Given the description of an element on the screen output the (x, y) to click on. 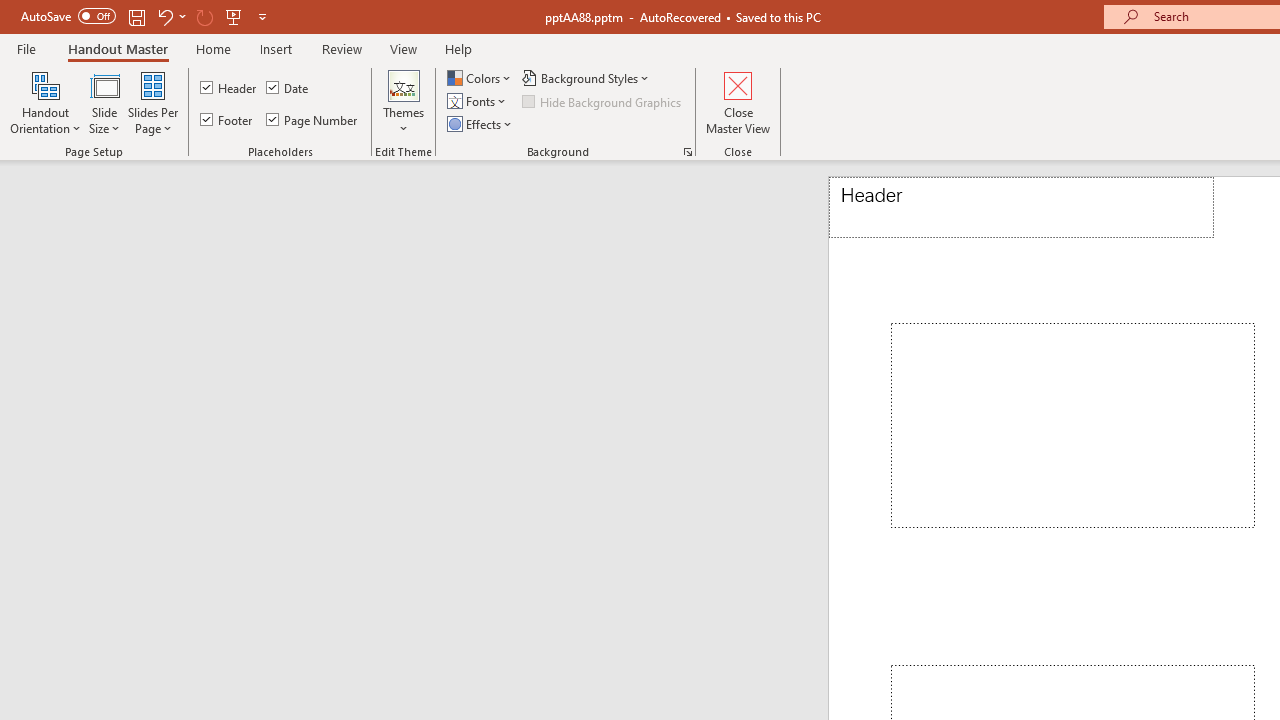
Date (288, 87)
Effects (481, 124)
Fonts (478, 101)
